Given the description of an element on the screen output the (x, y) to click on. 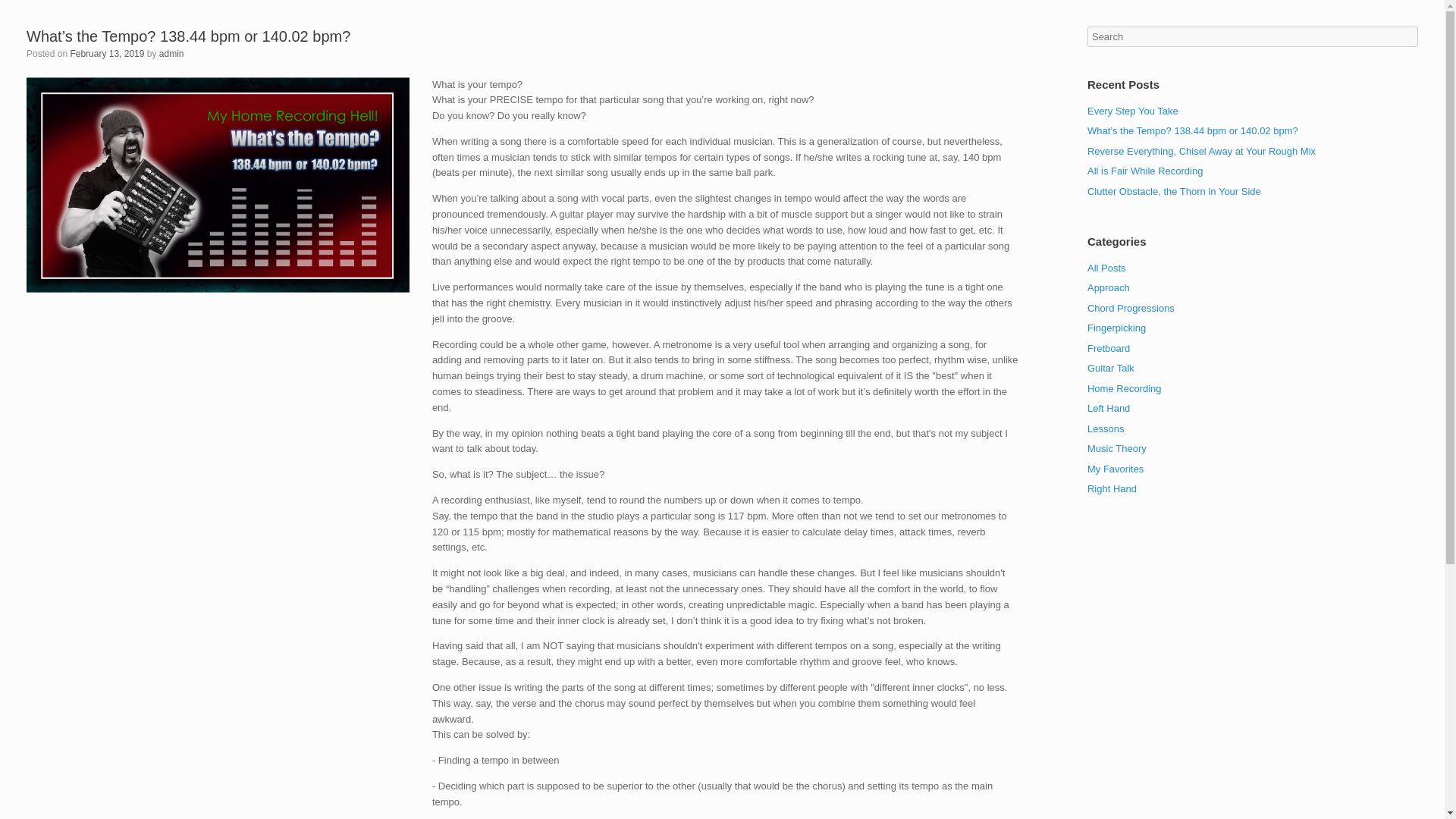
Chord Progressions (1130, 307)
Fingerpicking (1116, 327)
Home Recording (1124, 387)
Reverse Everything, Chisel Away at Your Rough Mix (1201, 151)
My Favorites (1114, 468)
Lessons (1105, 428)
View all posts by admin (171, 53)
Right Hand (1112, 488)
admin (171, 53)
Music Theory (1117, 448)
